Given the description of an element on the screen output the (x, y) to click on. 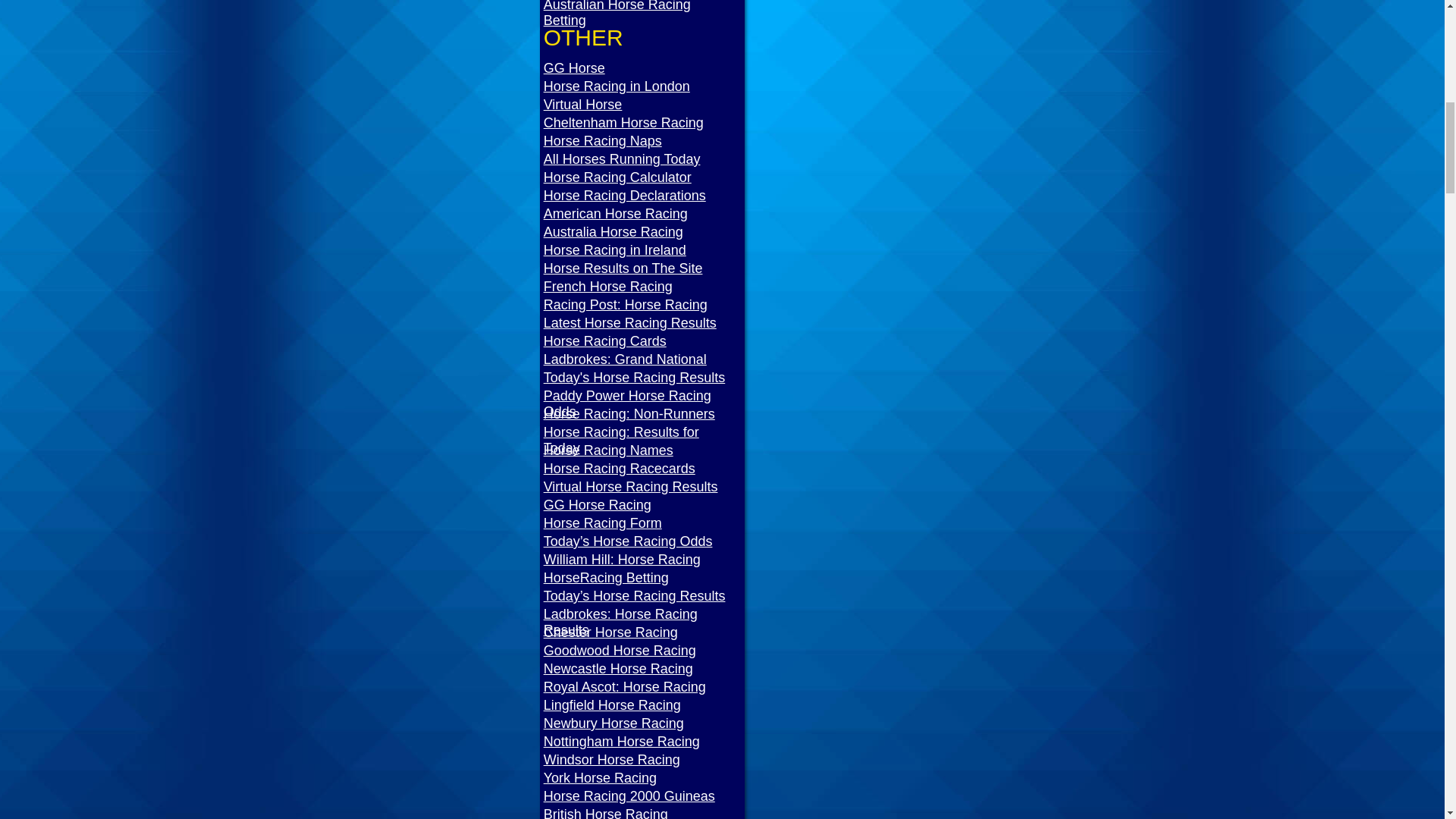
Horse Racing Naps (643, 141)
Horse Racing Declarations (643, 196)
Virtual Horse (643, 105)
Cheltenham Horse Racing (643, 123)
Horse Racing in London (643, 86)
All Horses Running Today (643, 159)
Australian Horse Racing Betting (643, 16)
GG Horse (643, 68)
Horse Racing Calculator (643, 177)
